Given the description of an element on the screen output the (x, y) to click on. 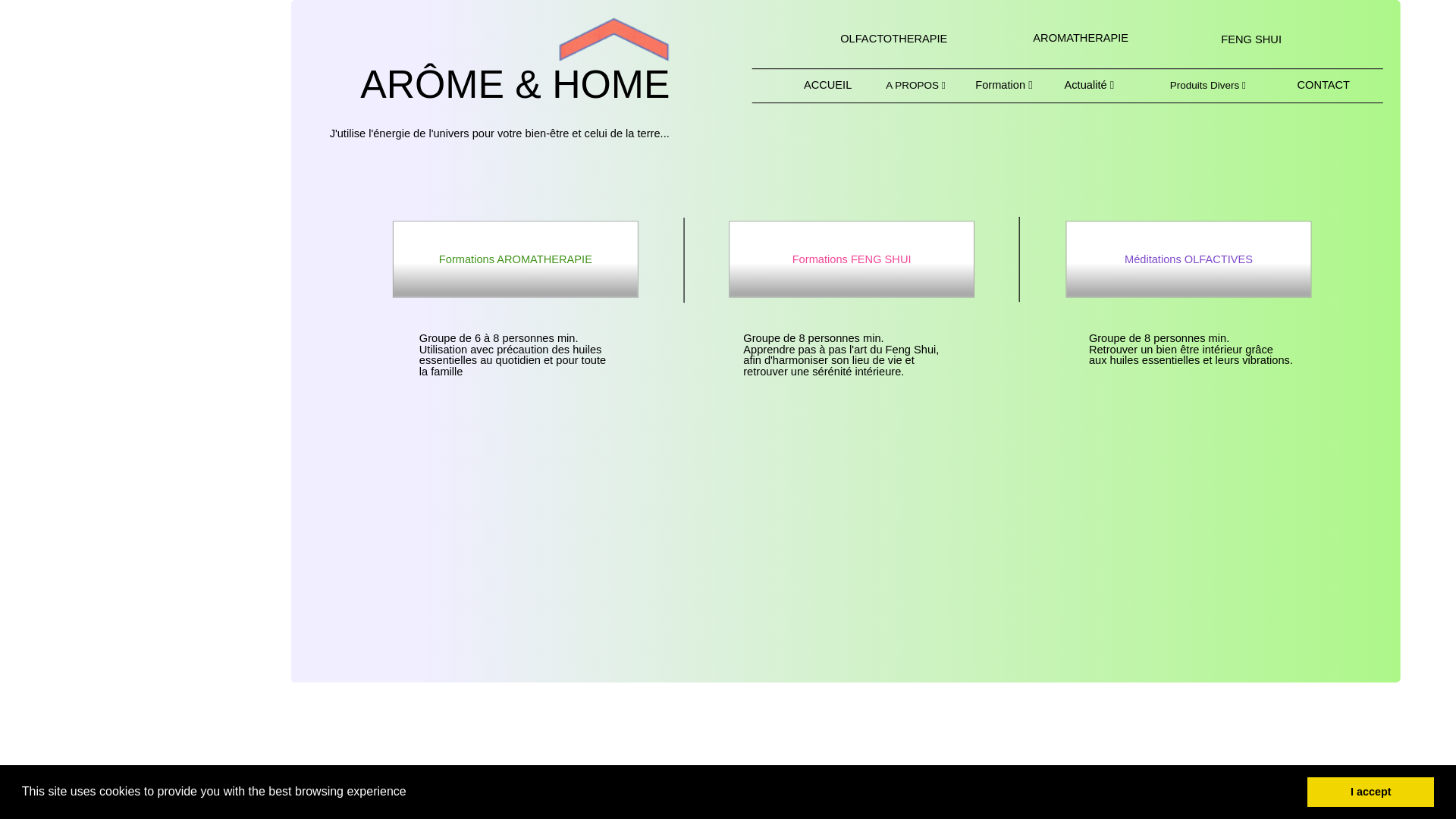
ACCUEIL Element type: text (820, 83)
I accept Element type: text (1370, 791)
AROMATHERAPIE Element type: text (1072, 36)
A PROPOS Element type: text (943, 83)
OLFACTOTHERAPIE Element type: text (886, 37)
FENG SHUI Element type: text (1243, 38)
ACCUEIL Element type: text (817, 84)
A PROPOS Element type: text (984, 83)
CONTACT Element type: text (1316, 83)
ACTUALITES Element type: text (1075, 83)
ACTUALITES Element type: text (1153, 83)
GALERIE Element type: text (1200, 83)
CONTACT Element type: text (1306, 84)
